Given the description of an element on the screen output the (x, y) to click on. 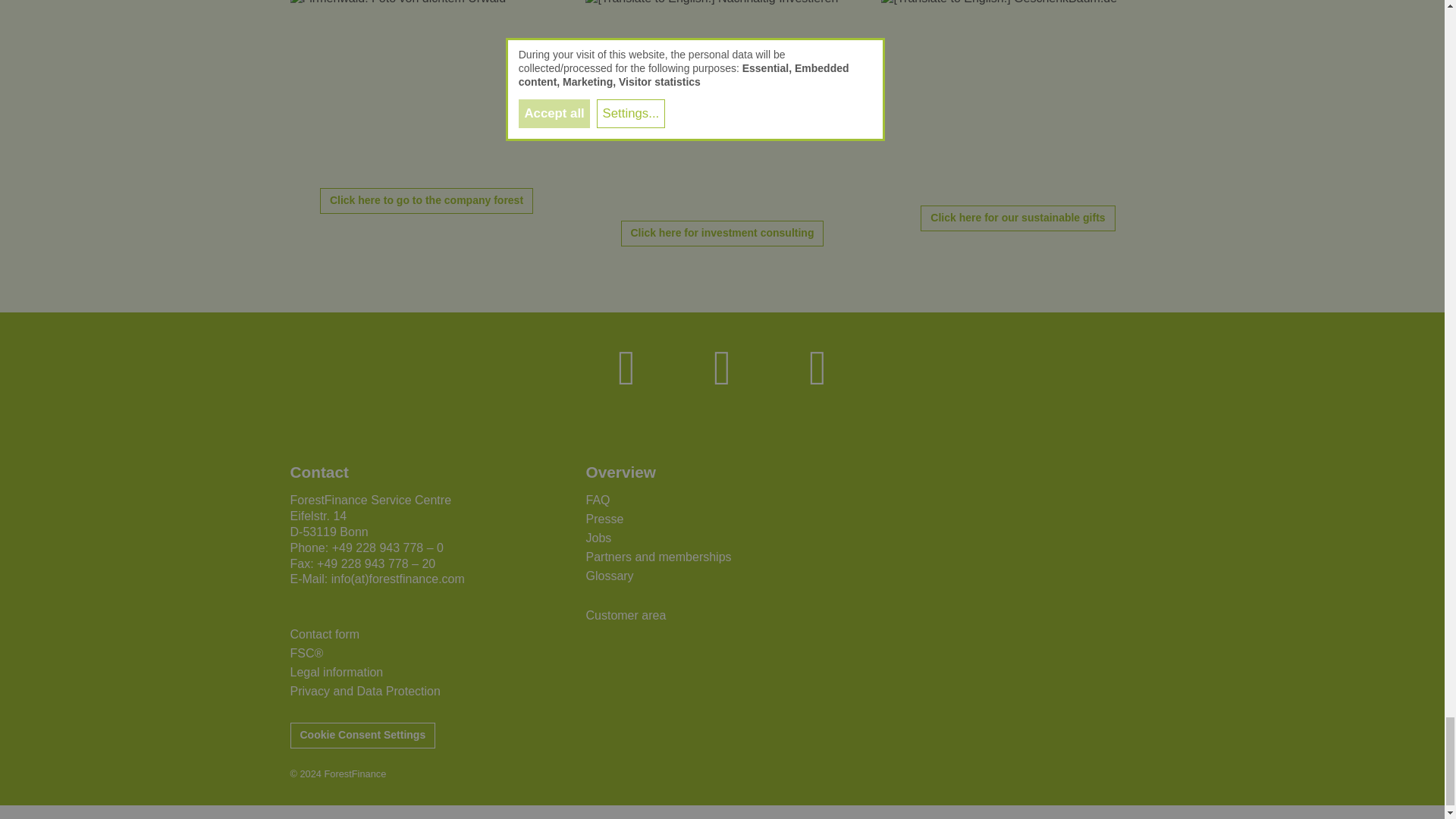
ForestFinance auf instagram (722, 367)
ForestFinance auf Vimeo (817, 367)
ForestFinance auf Facebook (626, 367)
